Given the description of an element on the screen output the (x, y) to click on. 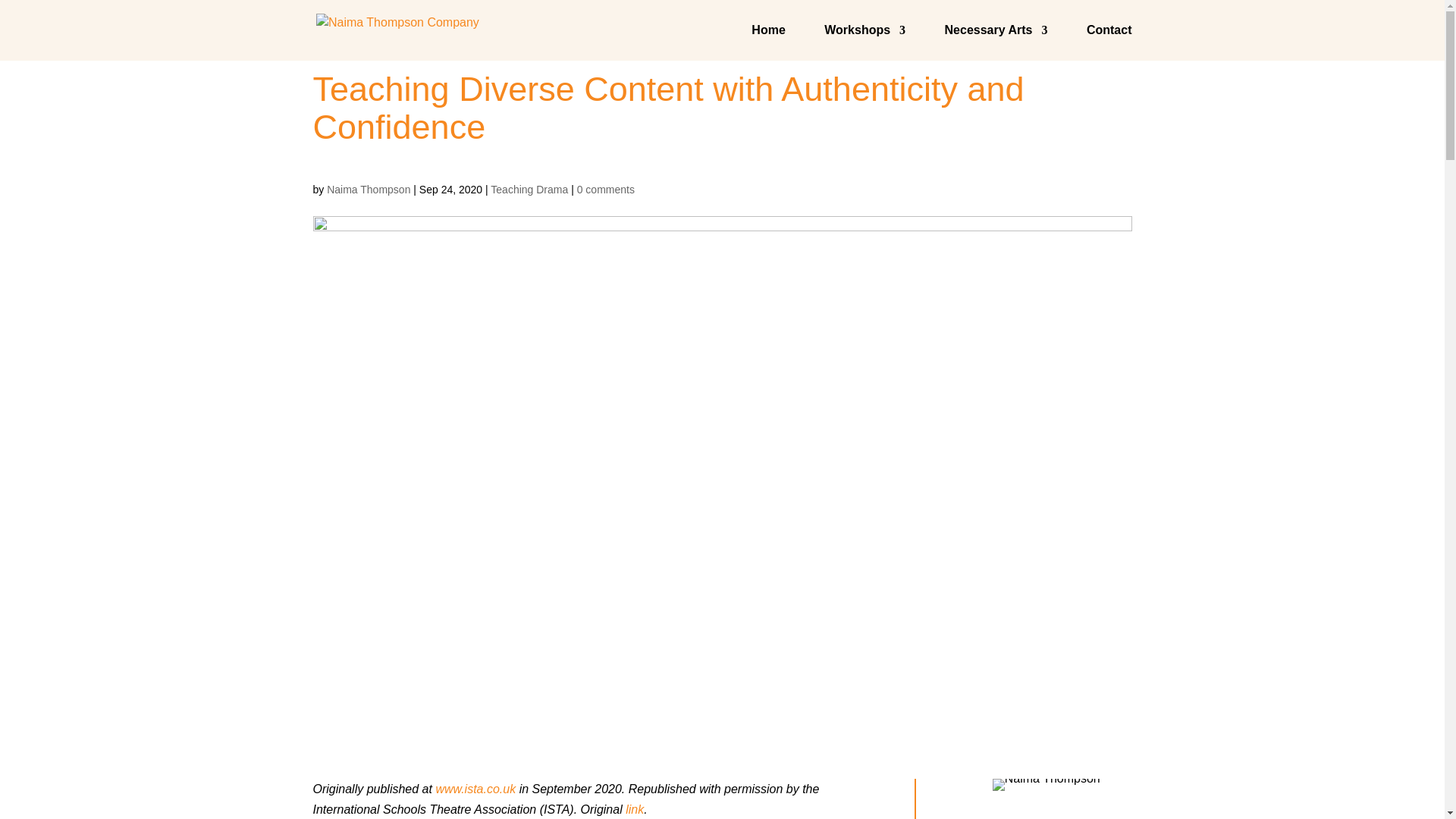
Necessary Arts (996, 42)
0 comments (605, 189)
Teaching Drama (528, 189)
link (634, 809)
Home (767, 42)
Contact (1109, 42)
Posts by Naima Thompson (368, 189)
Naima Thompson (368, 189)
Workshops (864, 42)
www.ista.co.uk (475, 788)
